Given the description of an element on the screen output the (x, y) to click on. 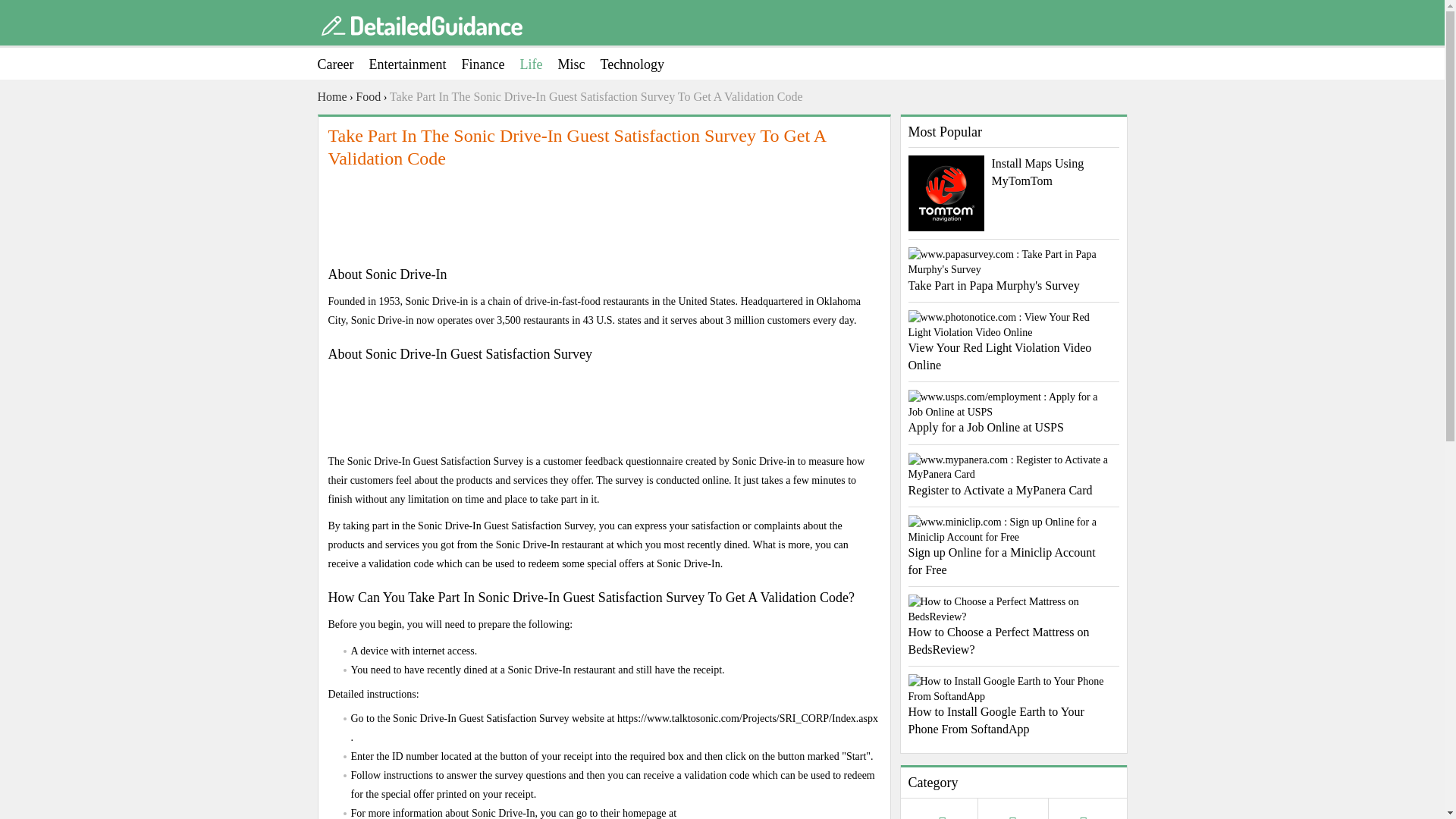
Life (538, 64)
Finance (490, 64)
Automotive (943, 816)
Banking (1013, 816)
Take Part in Papa Murphy's Survey (1013, 270)
Misc (578, 64)
Home (331, 96)
View Your Red Light Violation Video Online (1013, 341)
Install Maps Using MyTomTom (1013, 172)
Misc (578, 64)
